Given the description of an element on the screen output the (x, y) to click on. 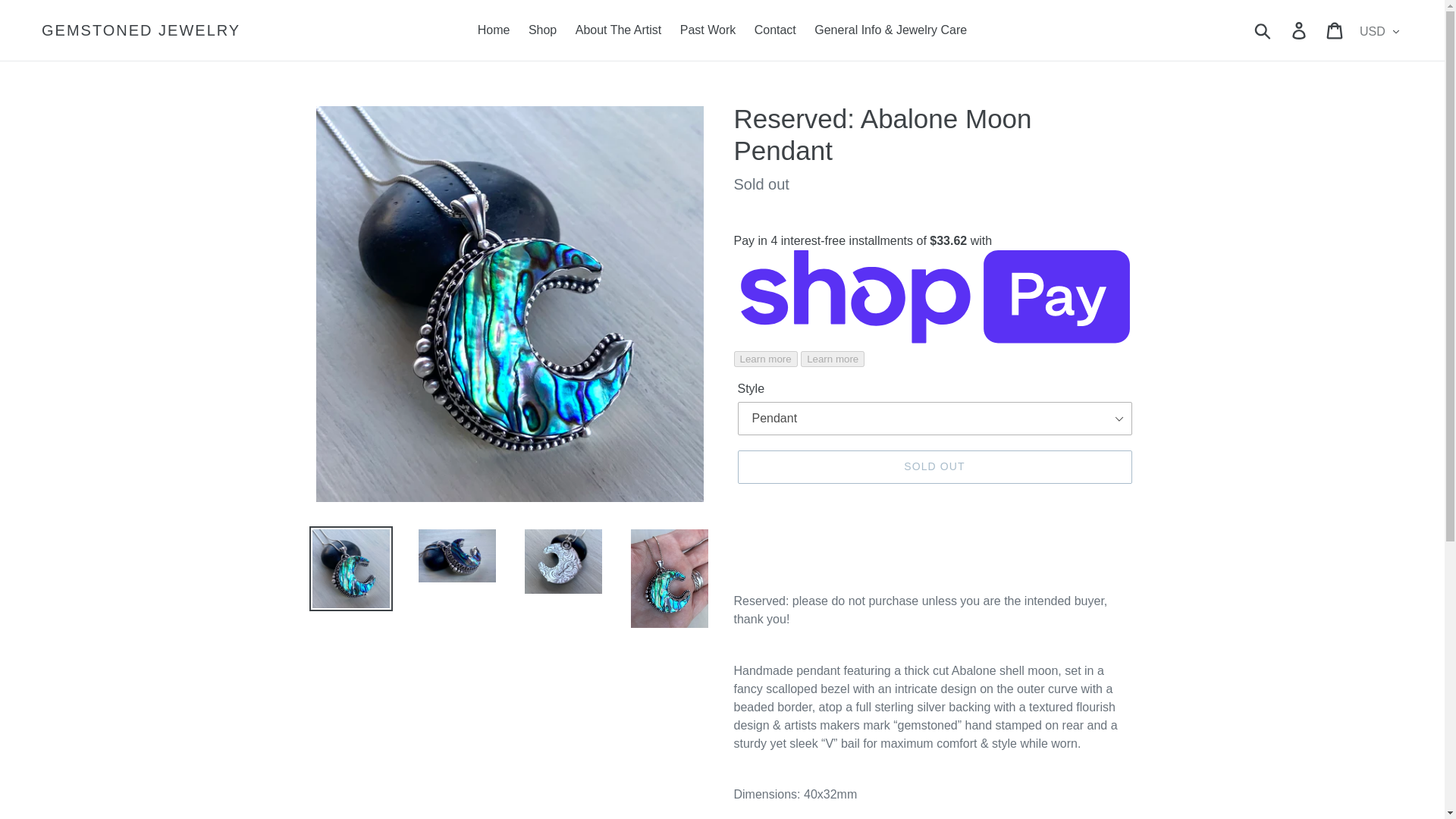
GEMSTONED JEWELRY (141, 30)
Log in (1299, 29)
Home (494, 29)
Past Work (708, 29)
Shop (542, 29)
About The Artist (618, 29)
Contact (774, 29)
SOLD OUT (933, 467)
Submit (1263, 29)
Cart (1335, 29)
